Given the description of an element on the screen output the (x, y) to click on. 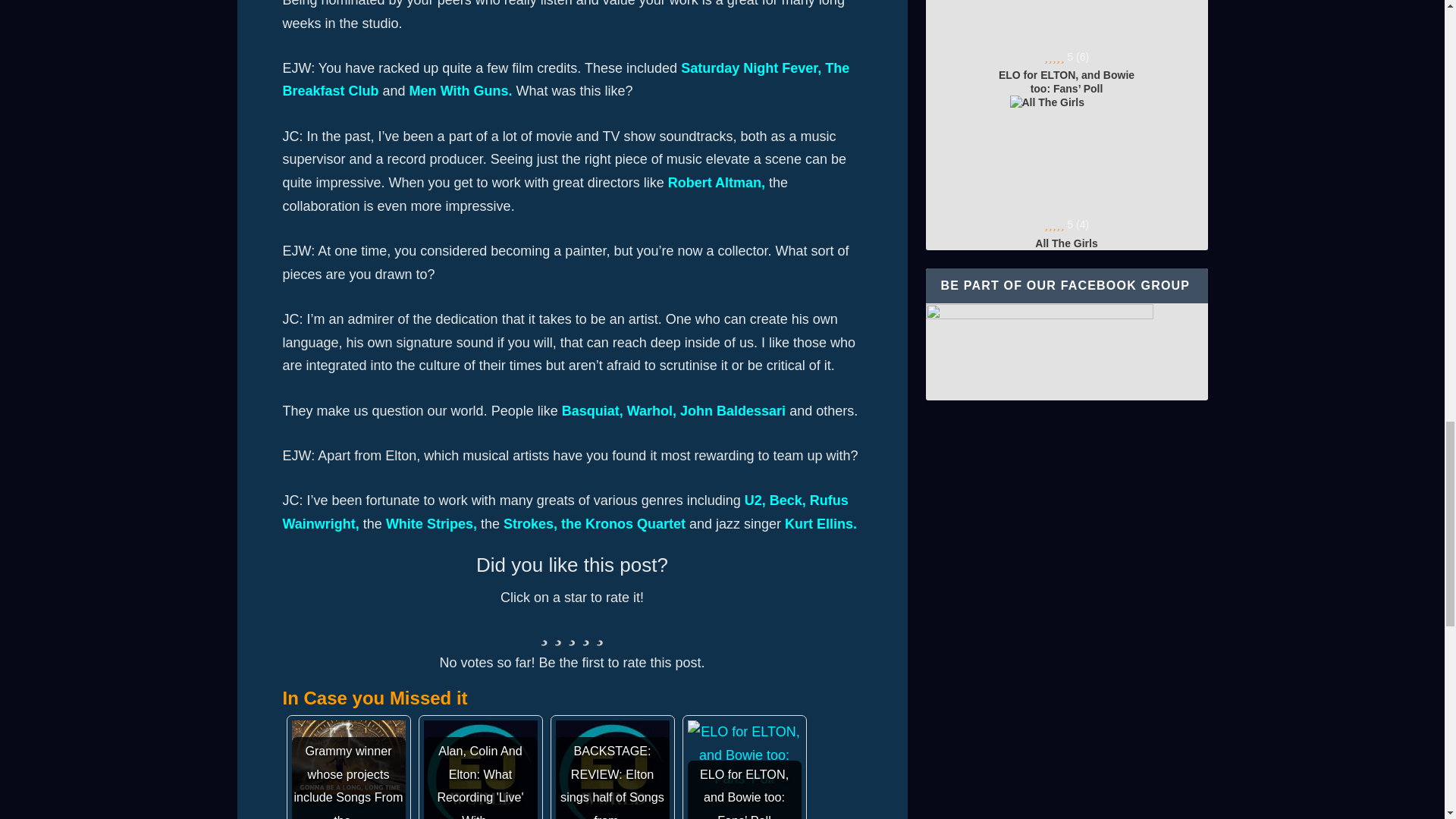
ELO for ELTON, and Bowie too: Fans' Poll (743, 755)
ELO for ELTON, and Bowie too: Fans' Poll (743, 769)
